Given the description of an element on the screen output the (x, y) to click on. 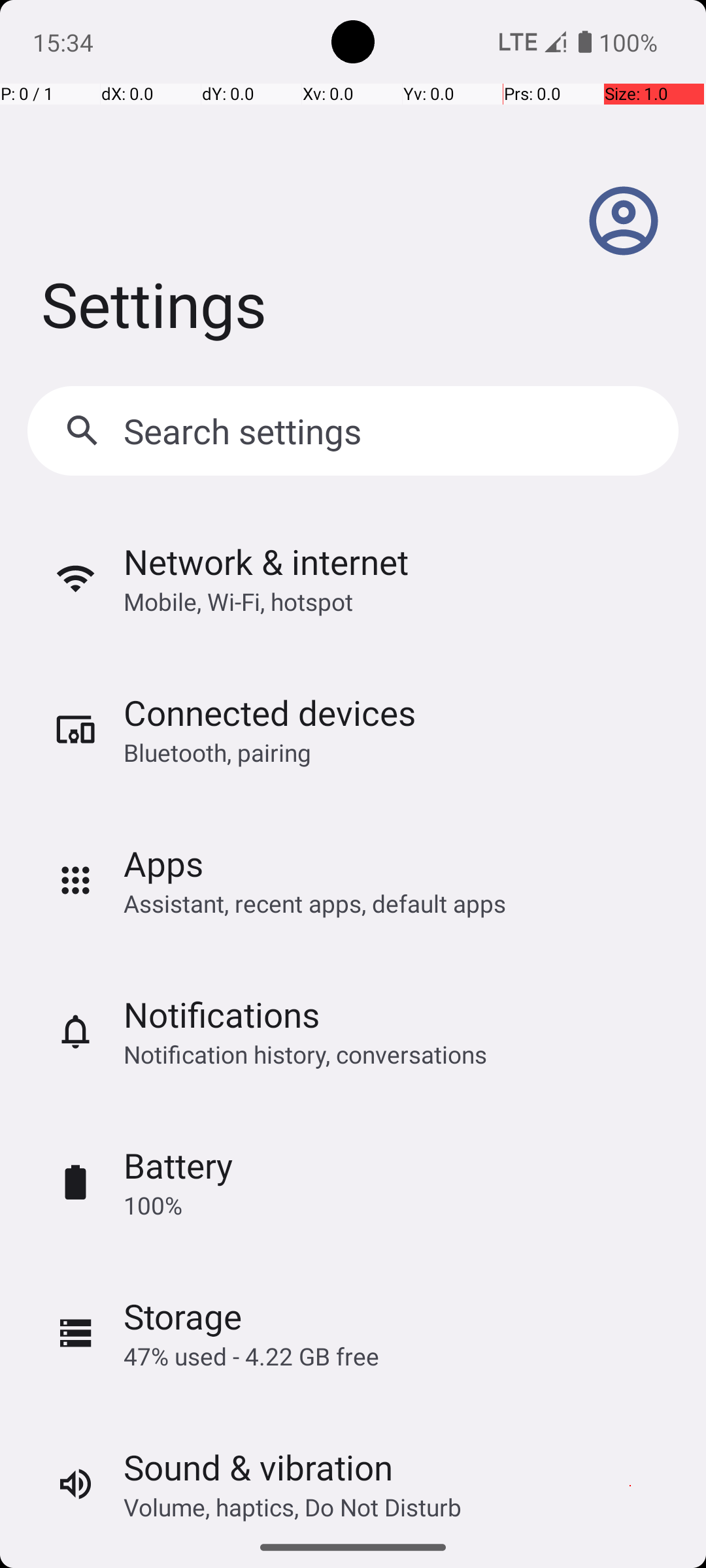
47% used - 4.22 GB free Element type: android.widget.TextView (251, 1355)
